Given the description of an element on the screen output the (x, y) to click on. 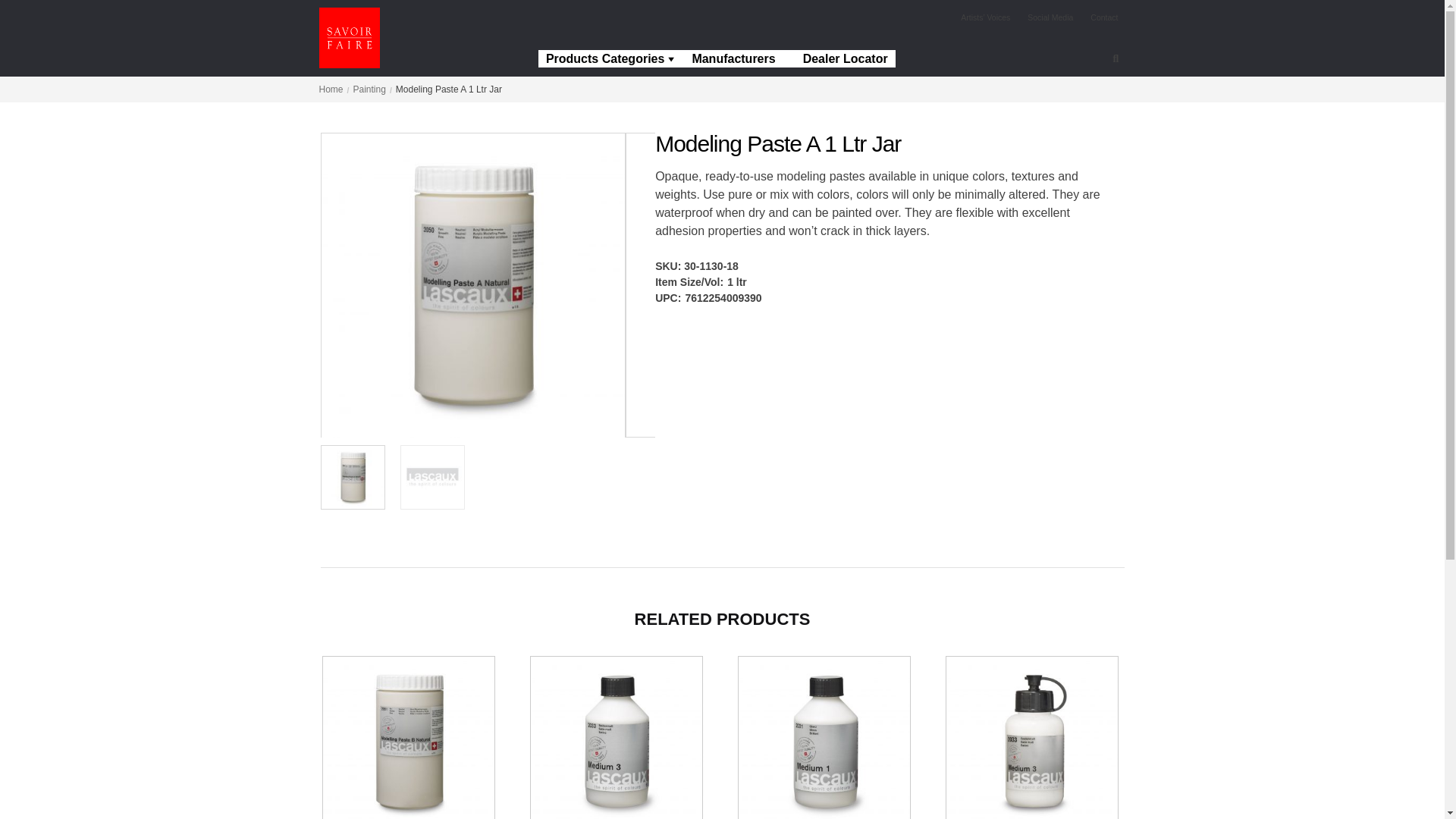
Contact (1104, 17)
Social Media (1050, 17)
Products Categories (611, 59)
